Given the description of an element on the screen output the (x, y) to click on. 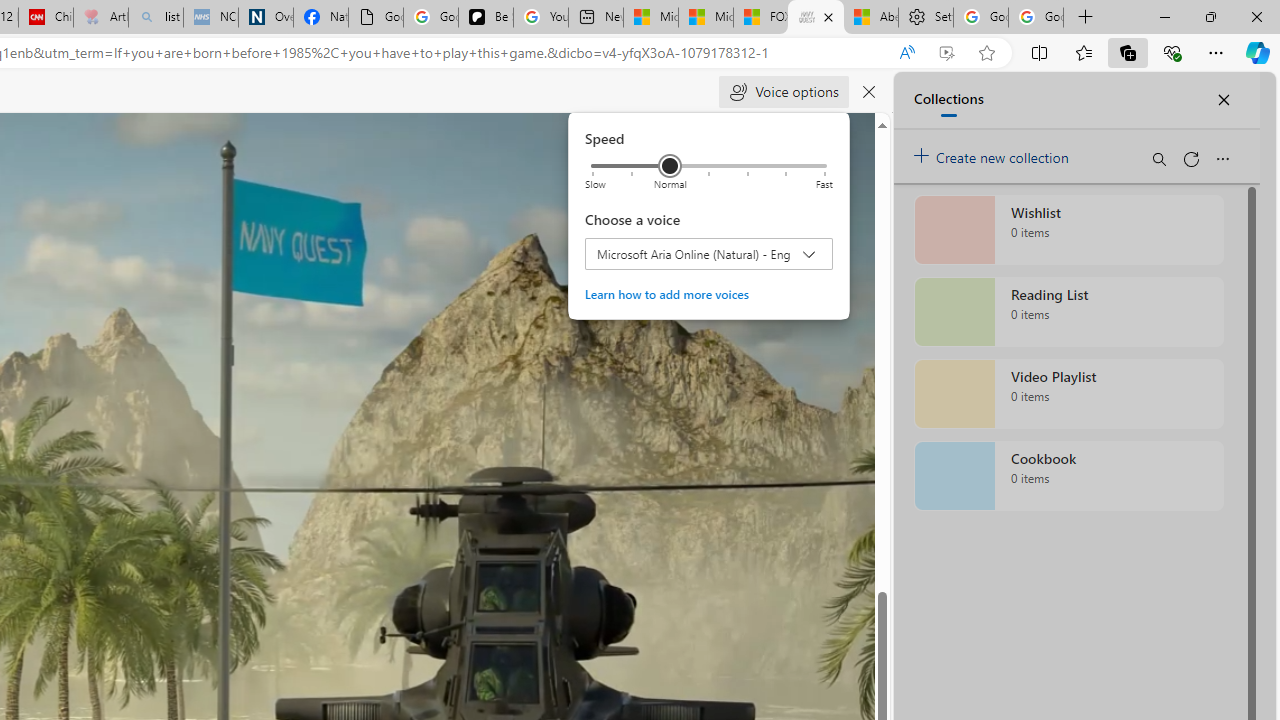
Arthritis: Ask Health Professionals - Sleeping (100, 17)
